Given the description of an element on the screen output the (x, y) to click on. 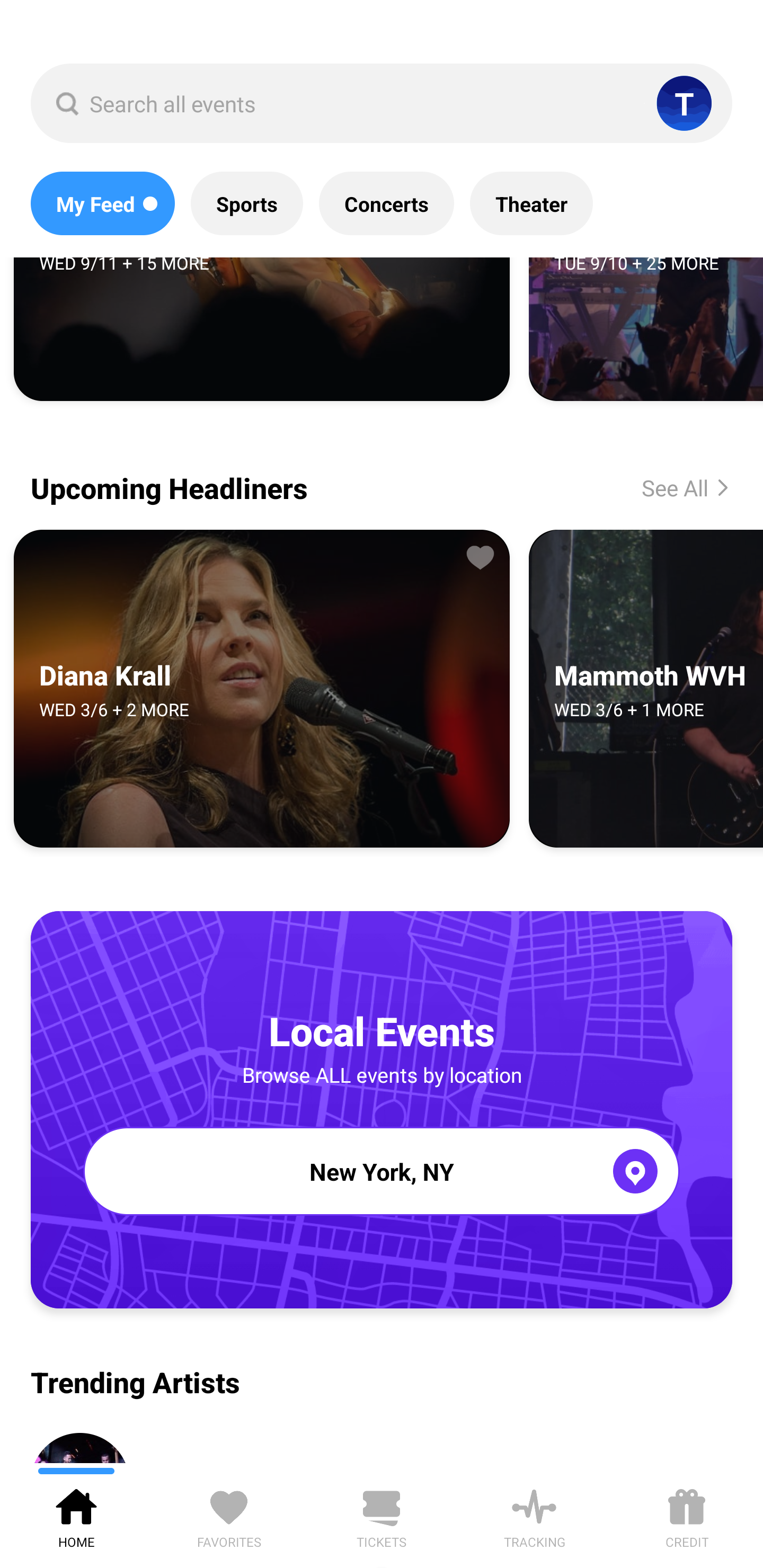
Search all events (381, 103)
T (683, 102)
My Feed (102, 202)
Sports (246, 202)
Concerts (385, 202)
Theater (531, 202)
See All  (670, 487)
New York, NY (381, 1171)
HOME (76, 1515)
FAVORITES (228, 1515)
TICKETS (381, 1515)
TRACKING (533, 1515)
CREDIT (686, 1515)
